Given the description of an element on the screen output the (x, y) to click on. 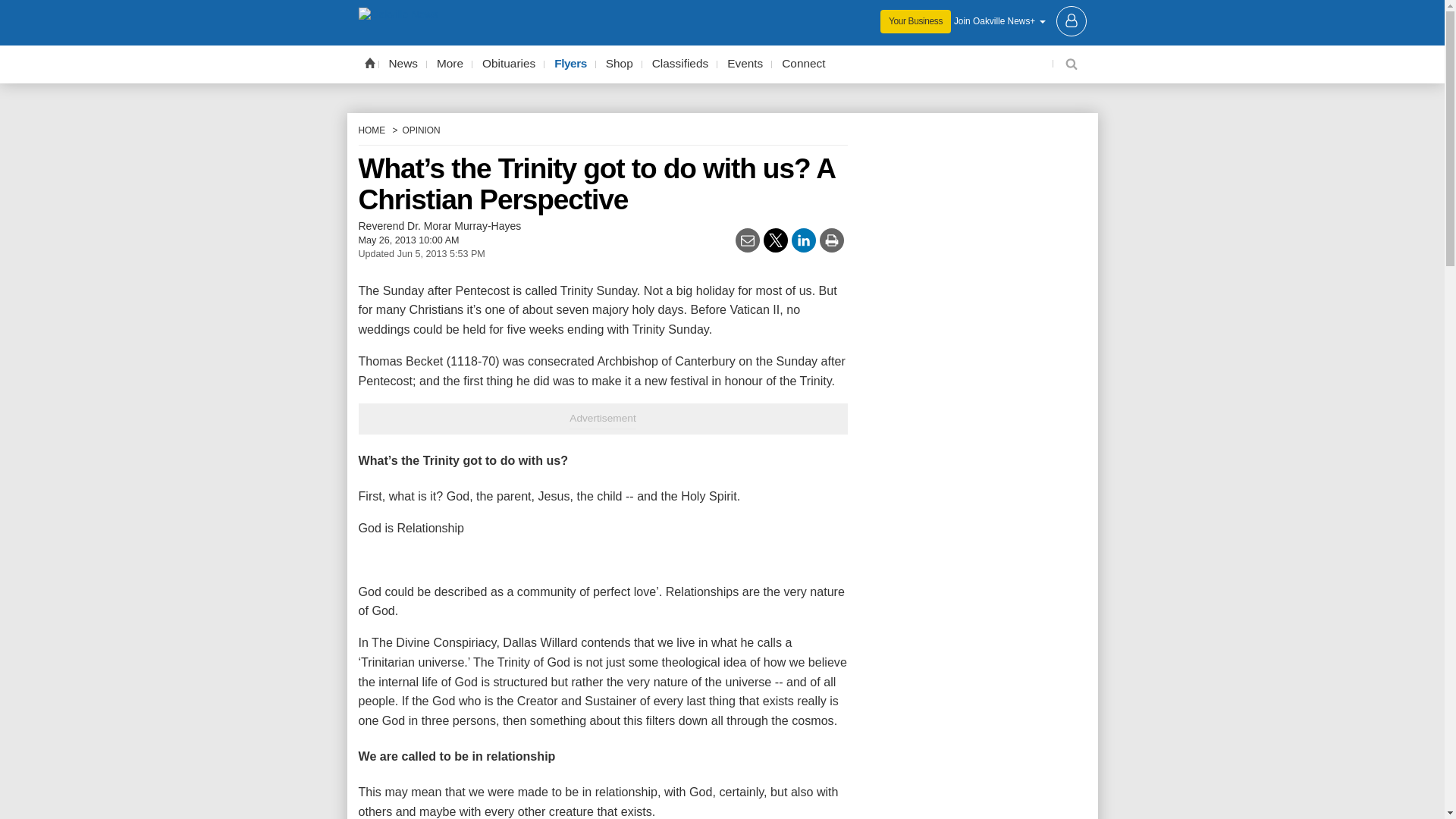
Home (368, 62)
News (403, 64)
Your Business (915, 21)
